Given the description of an element on the screen output the (x, y) to click on. 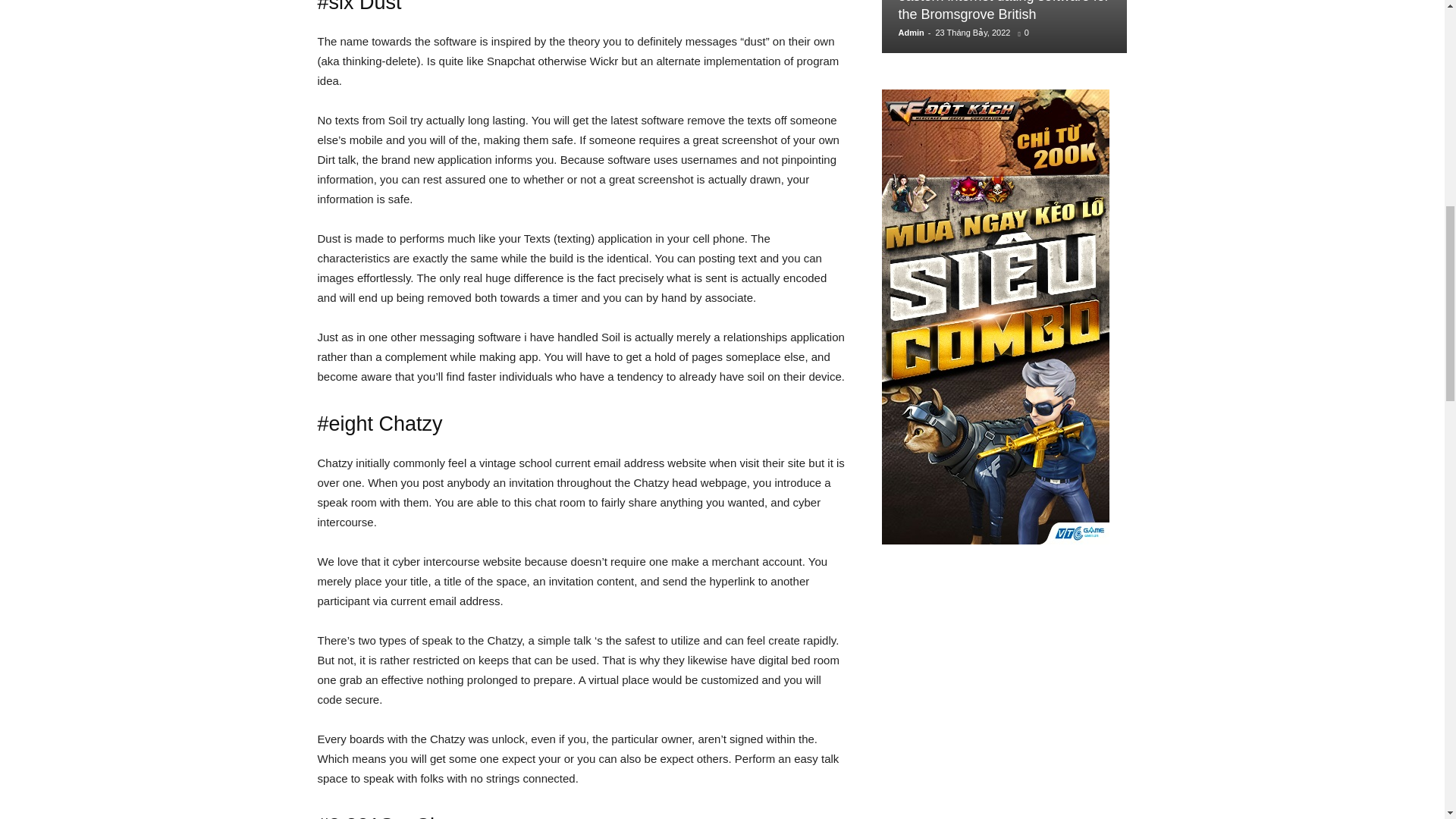
Admin (910, 31)
